Given the description of an element on the screen output the (x, y) to click on. 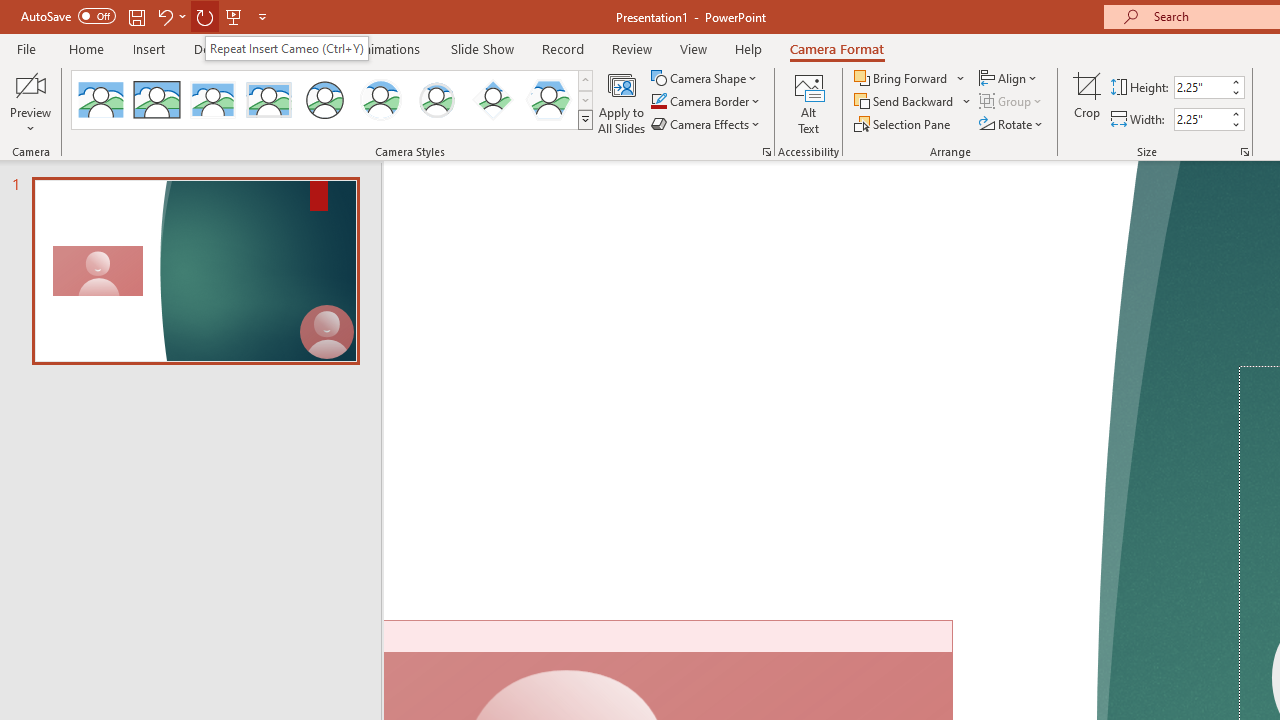
Slide (195, 270)
Less (1235, 124)
Repeat Insert Cameo (Ctrl+Y) (286, 48)
Redo (204, 15)
Selection Pane... (904, 124)
Soft Edge Rectangle (268, 100)
Customize Quick Access Toolbar (262, 15)
Preview (30, 102)
Camera Effects (706, 124)
Camera Styles (585, 120)
Bring Forward (902, 78)
No Style (100, 100)
Alt Text (808, 102)
